Given the description of an element on the screen output the (x, y) to click on. 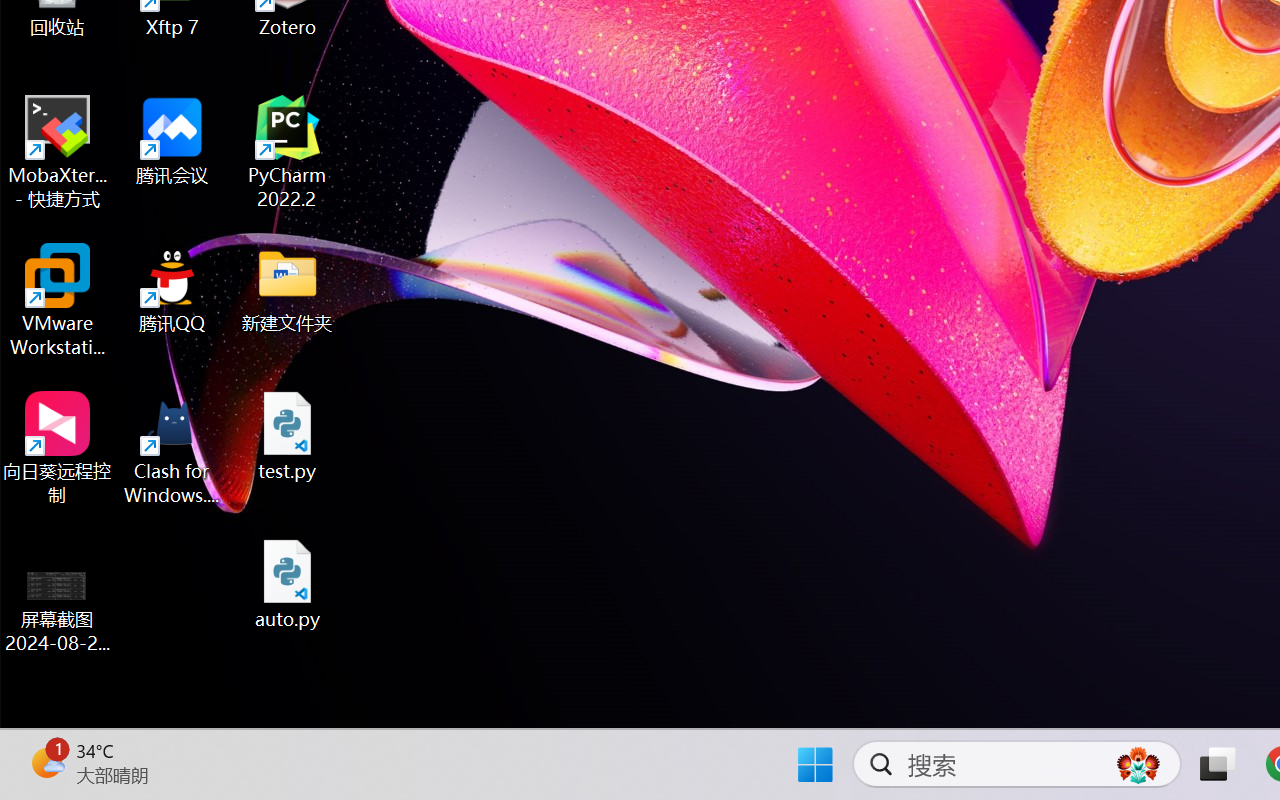
test.py (287, 436)
VMware Workstation Pro (57, 300)
PyCharm 2022.2 (287, 152)
auto.py (287, 584)
